Given the description of an element on the screen output the (x, y) to click on. 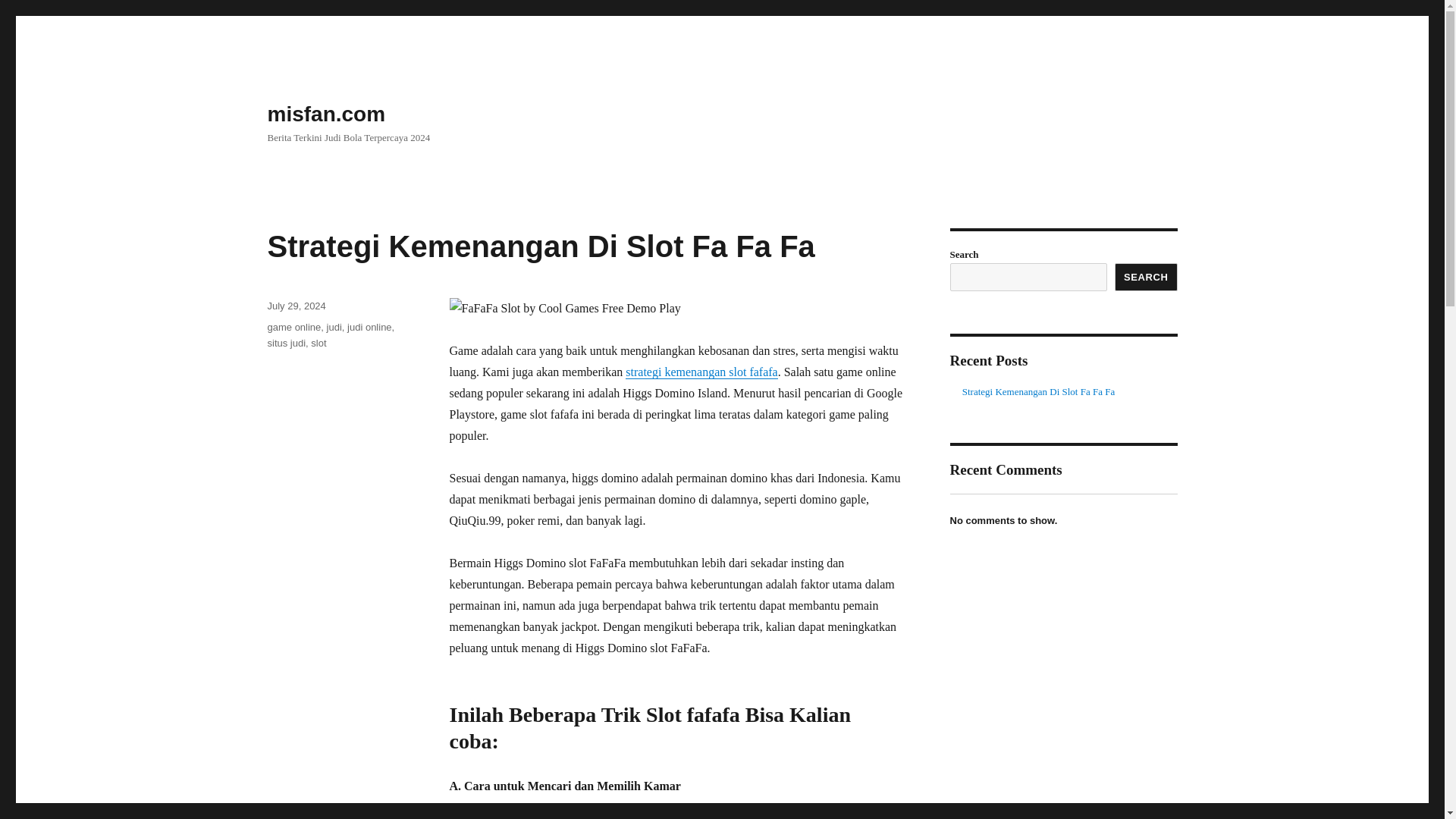
slot (318, 342)
situs judi (285, 342)
game online (293, 326)
strategi kemenangan slot fafafa (701, 371)
Strategi Kemenangan Di Slot Fa Fa Fa (1038, 391)
judi (334, 326)
July 29, 2024 (295, 306)
SEARCH (1146, 276)
Strategi Kemenangan Di Slot Fa Fa Fa (539, 246)
judi online (369, 326)
misfan.com (325, 114)
